Given the description of an element on the screen output the (x, y) to click on. 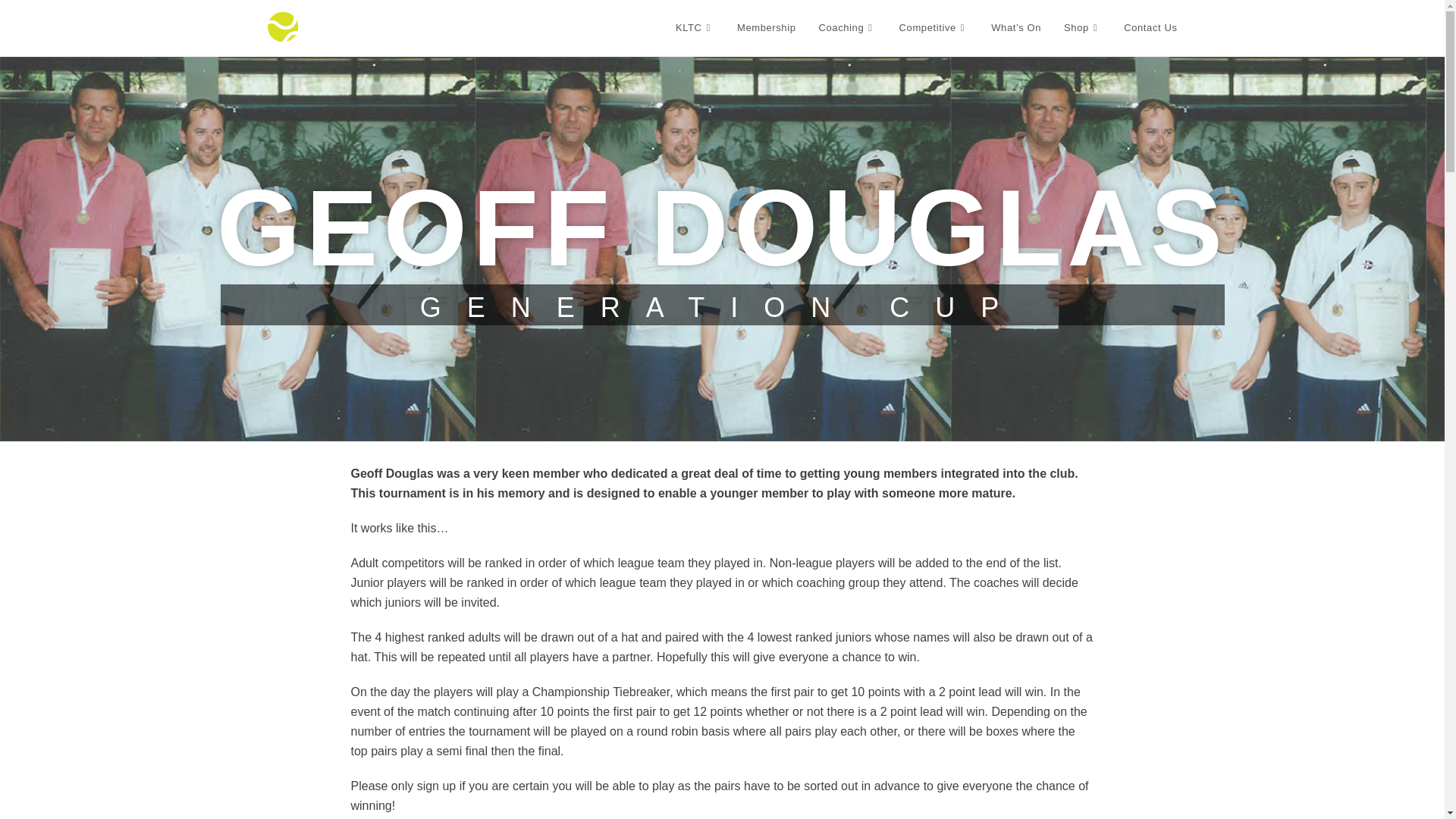
Contact Us (1150, 28)
KLTC (694, 28)
Shop (1082, 28)
Competitive (933, 28)
Membership (766, 28)
Coaching (846, 28)
